Given the description of an element on the screen output the (x, y) to click on. 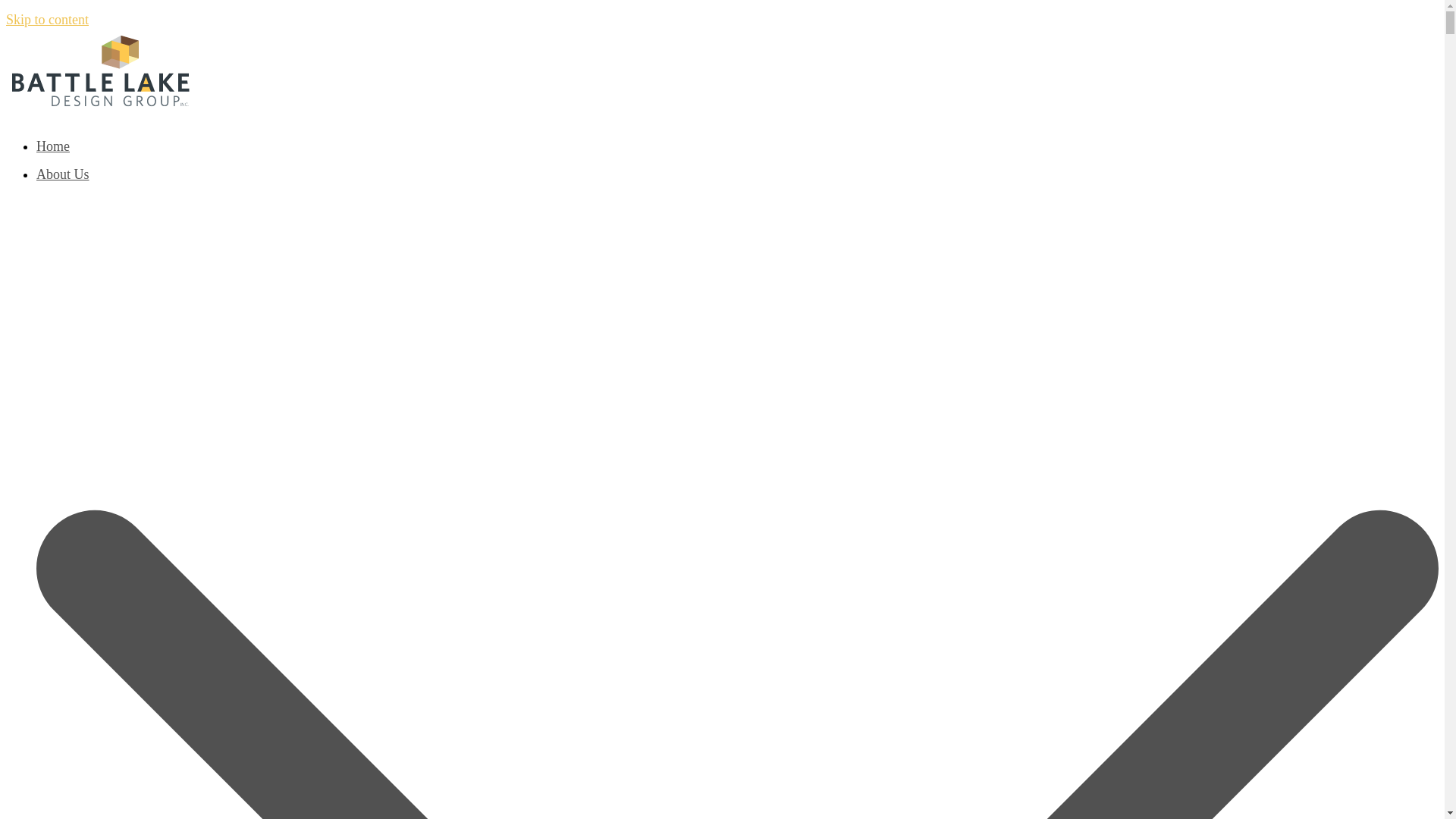
Home Element type: text (52, 145)
Skip to content Element type: text (47, 19)
Battle Lake Design Group Element type: hover (100, 104)
About Us Element type: text (62, 174)
